Given the description of an element on the screen output the (x, y) to click on. 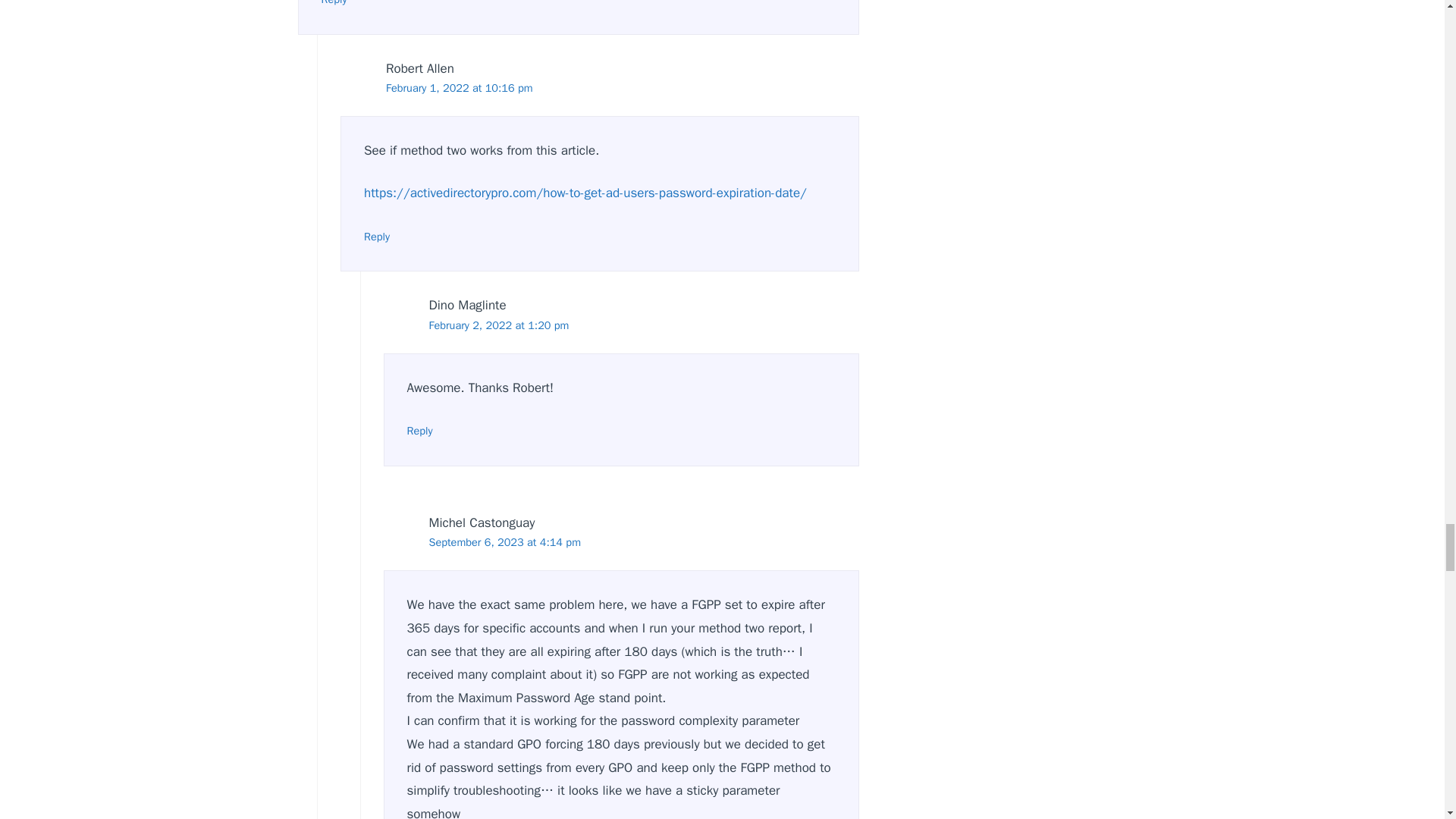
February 1, 2022 at 10:16 pm (458, 88)
Reply (377, 236)
Reply (334, 2)
February 2, 2022 at 1:20 pm (499, 325)
